Given the description of an element on the screen output the (x, y) to click on. 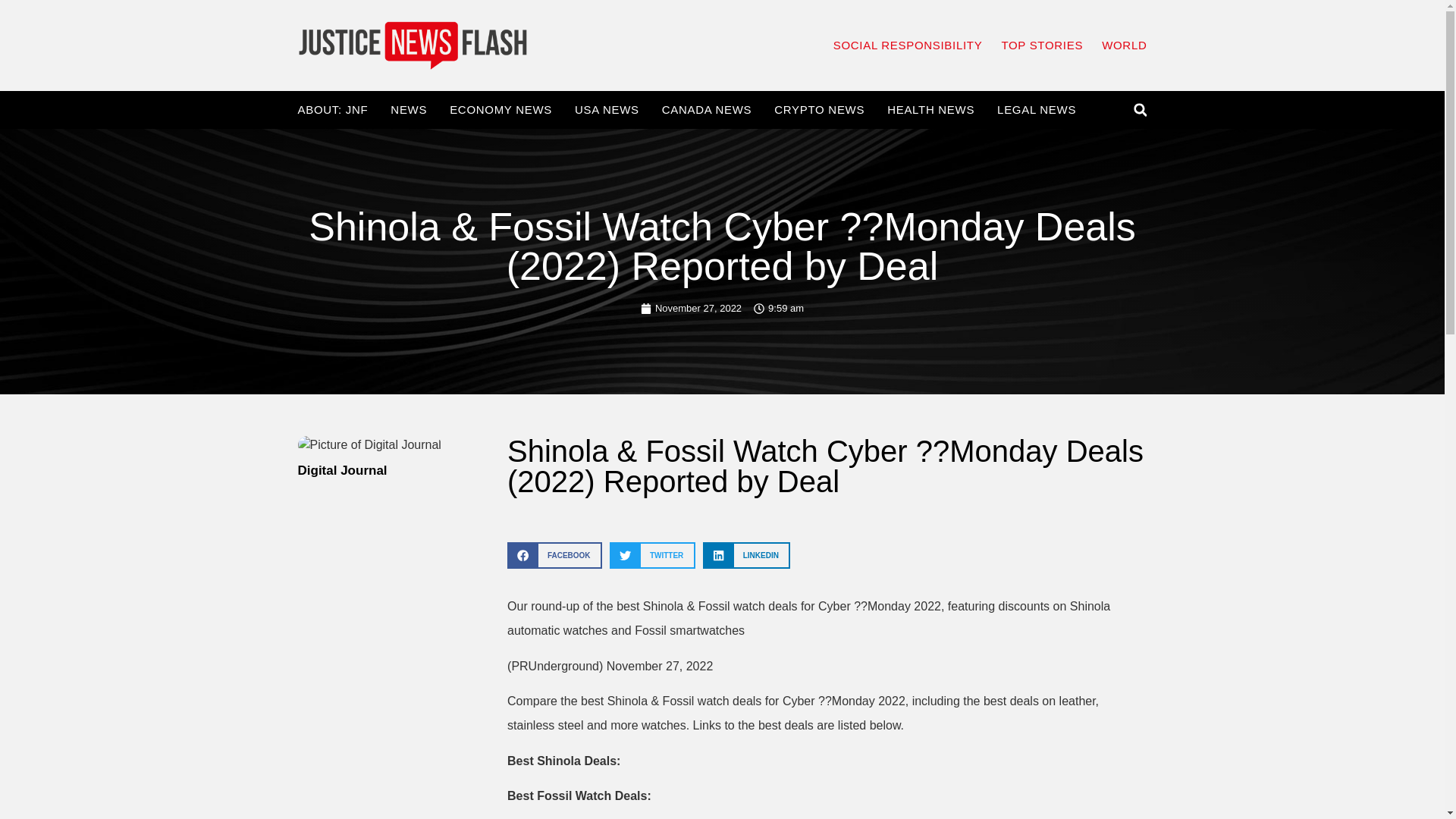
CANADA NEWS (706, 109)
CRYPTO NEWS (819, 109)
ECONOMY NEWS (500, 109)
USA NEWS (606, 109)
LEGAL NEWS (1036, 109)
November 27, 2022 (690, 308)
ABOUT: JNF (332, 109)
TOP STORIES (1042, 45)
HEALTH NEWS (930, 109)
SOCIAL RESPONSIBILITY (907, 45)
